Given the description of an element on the screen output the (x, y) to click on. 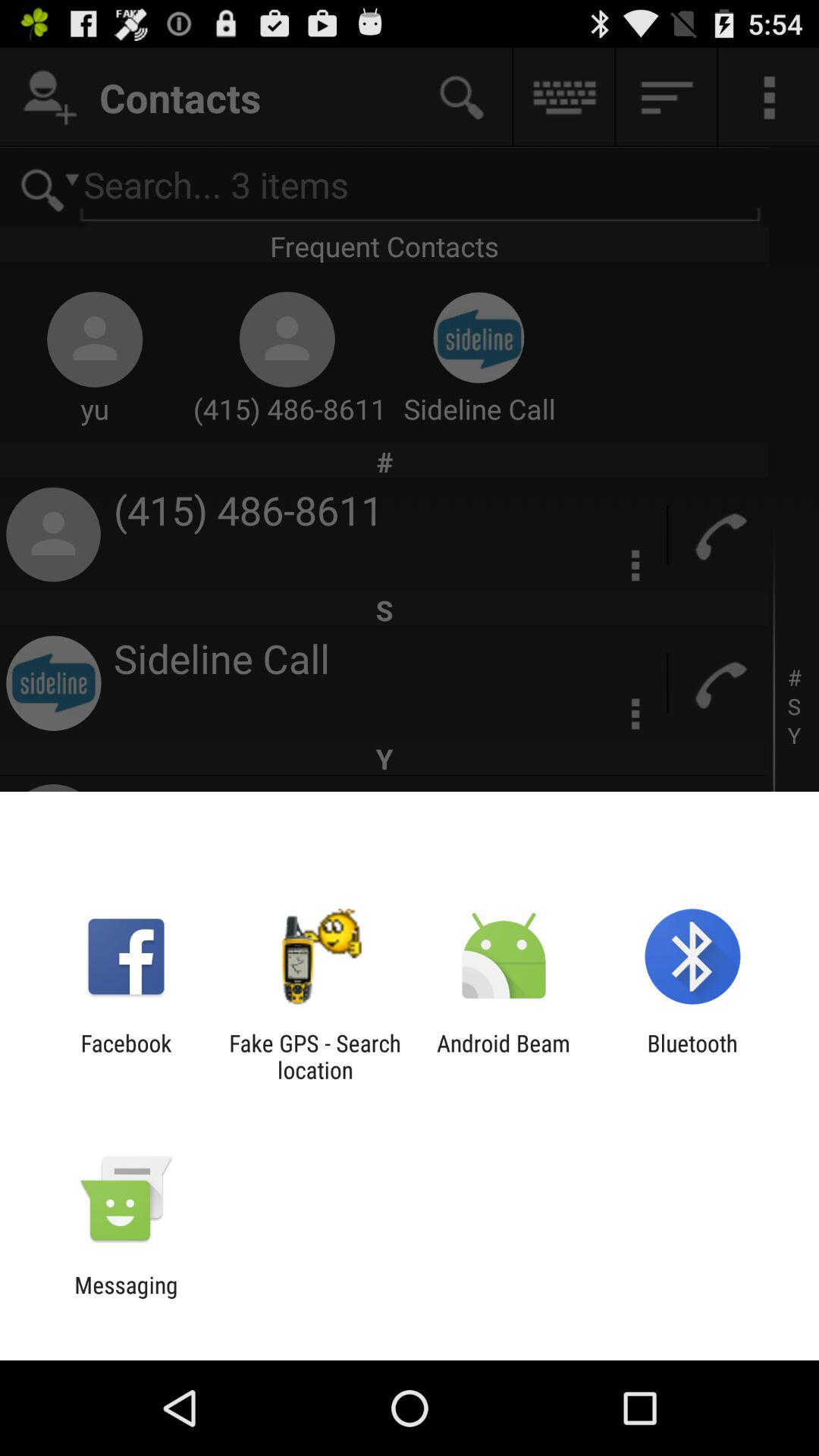
open the item to the right of the android beam app (692, 1056)
